Given the description of an element on the screen output the (x, y) to click on. 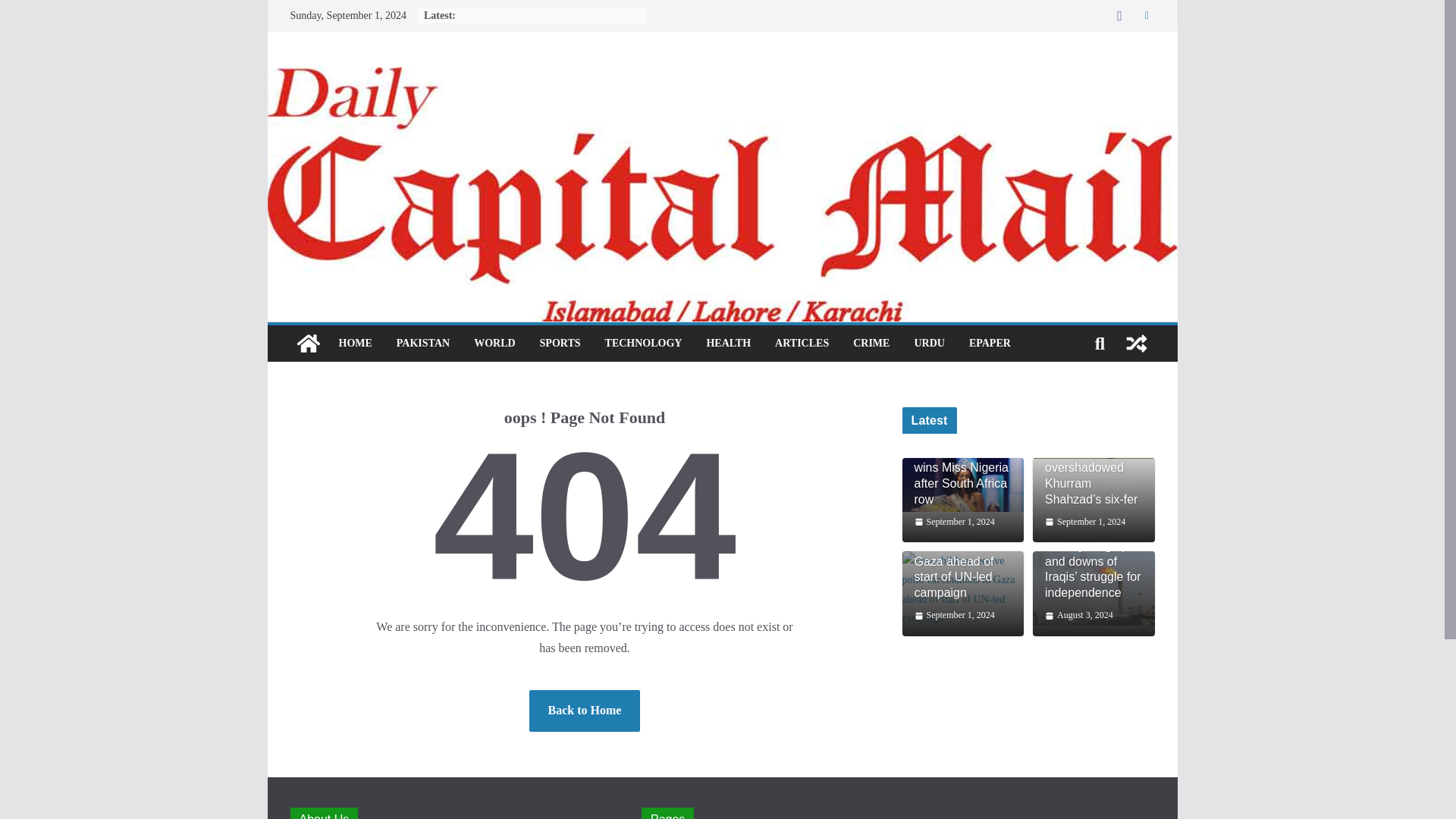
Beauty queen wins Miss Nigeria after South Africa row (962, 475)
September 1, 2024 (1085, 522)
TECHNOLOGY (643, 342)
EPAPER (989, 342)
View a random post (1136, 343)
Daily Capital Mail (721, 77)
Beauty queen wins Miss Nigeria after South Africa row (962, 475)
September 1, 2024 (954, 522)
CRIME (871, 342)
